Given the description of an element on the screen output the (x, y) to click on. 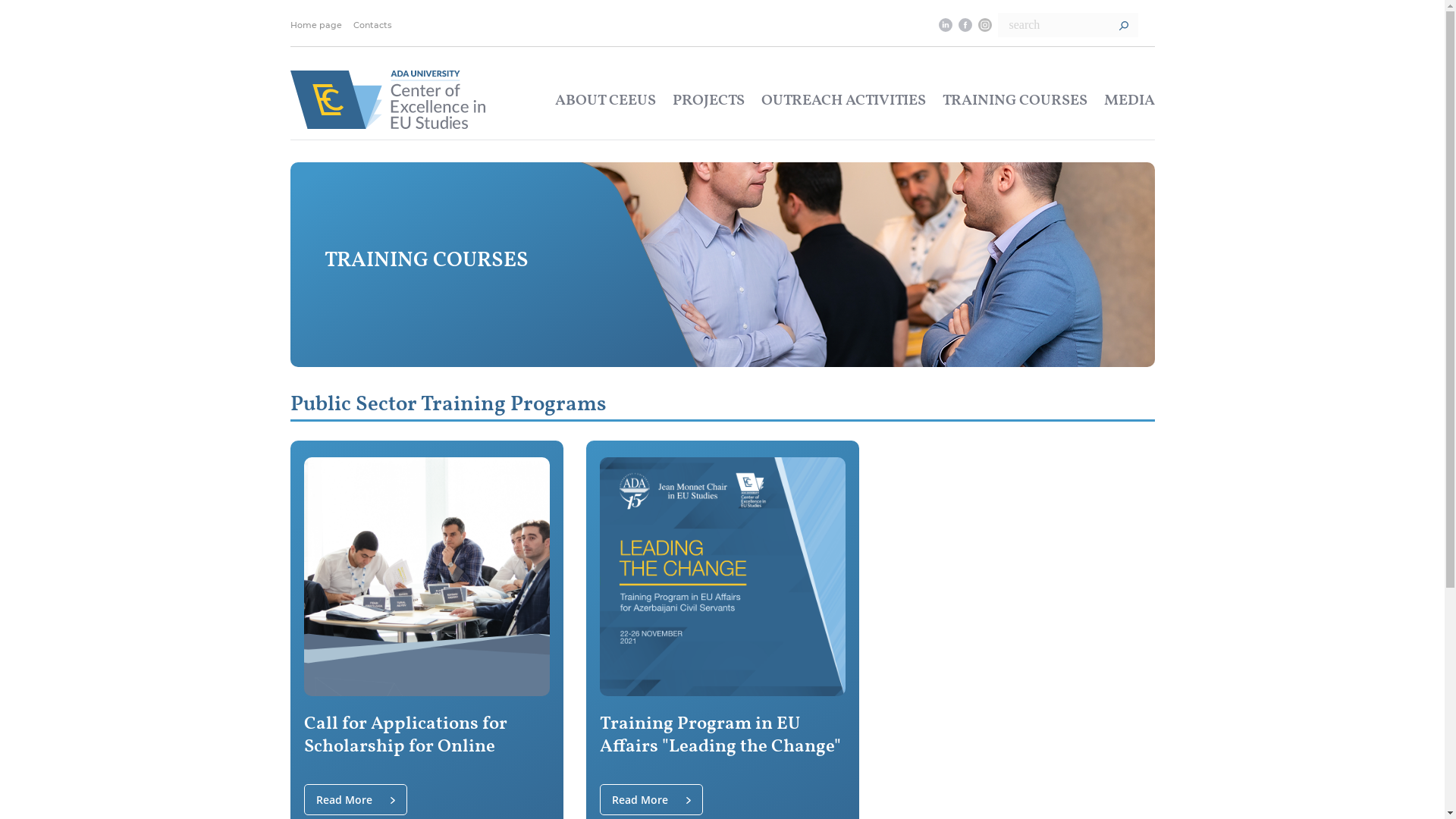
Read More Element type: text (354, 799)
PROJECTS Element type: text (707, 100)
Home page Element type: text (320, 24)
TRAINING COURSES Element type: text (1013, 100)
Contacts Element type: text (378, 24)
MEDIA Element type: text (1129, 100)
OUTREACH ACTIVITIES Element type: text (843, 100)
Read More Element type: text (650, 799)
Training Program in EU Affairs "Leading the Change" Element type: text (721, 735)
ABOUT CEEUS Element type: text (605, 100)
